Given the description of an element on the screen output the (x, y) to click on. 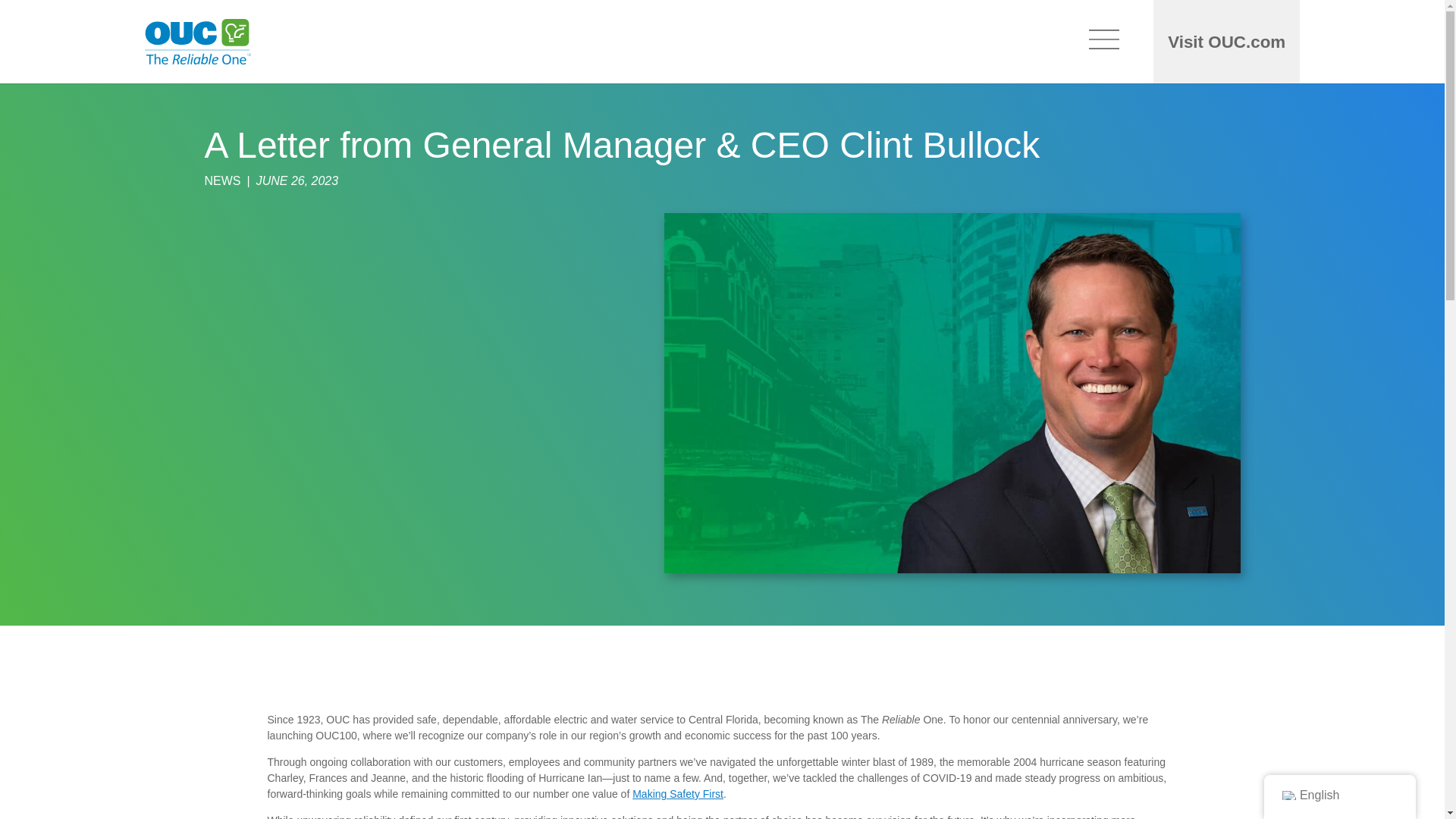
English (1339, 794)
OUC (337, 719)
English (1288, 794)
Making Safety First (677, 793)
